Given the description of an element on the screen output the (x, y) to click on. 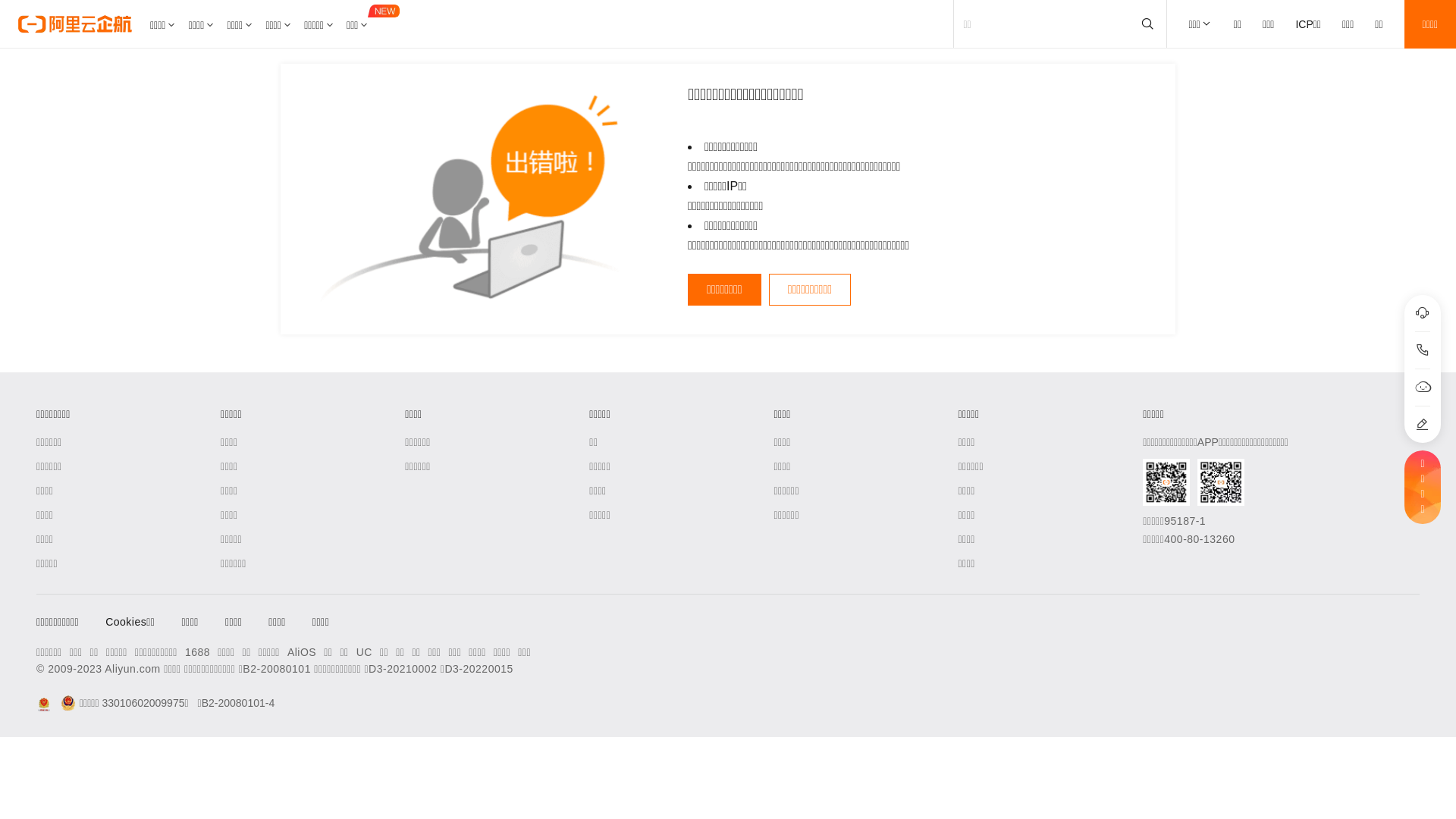
1688 Element type: text (197, 652)
AliOS Element type: text (301, 652)
UC Element type: text (364, 652)
